Given the description of an element on the screen output the (x, y) to click on. 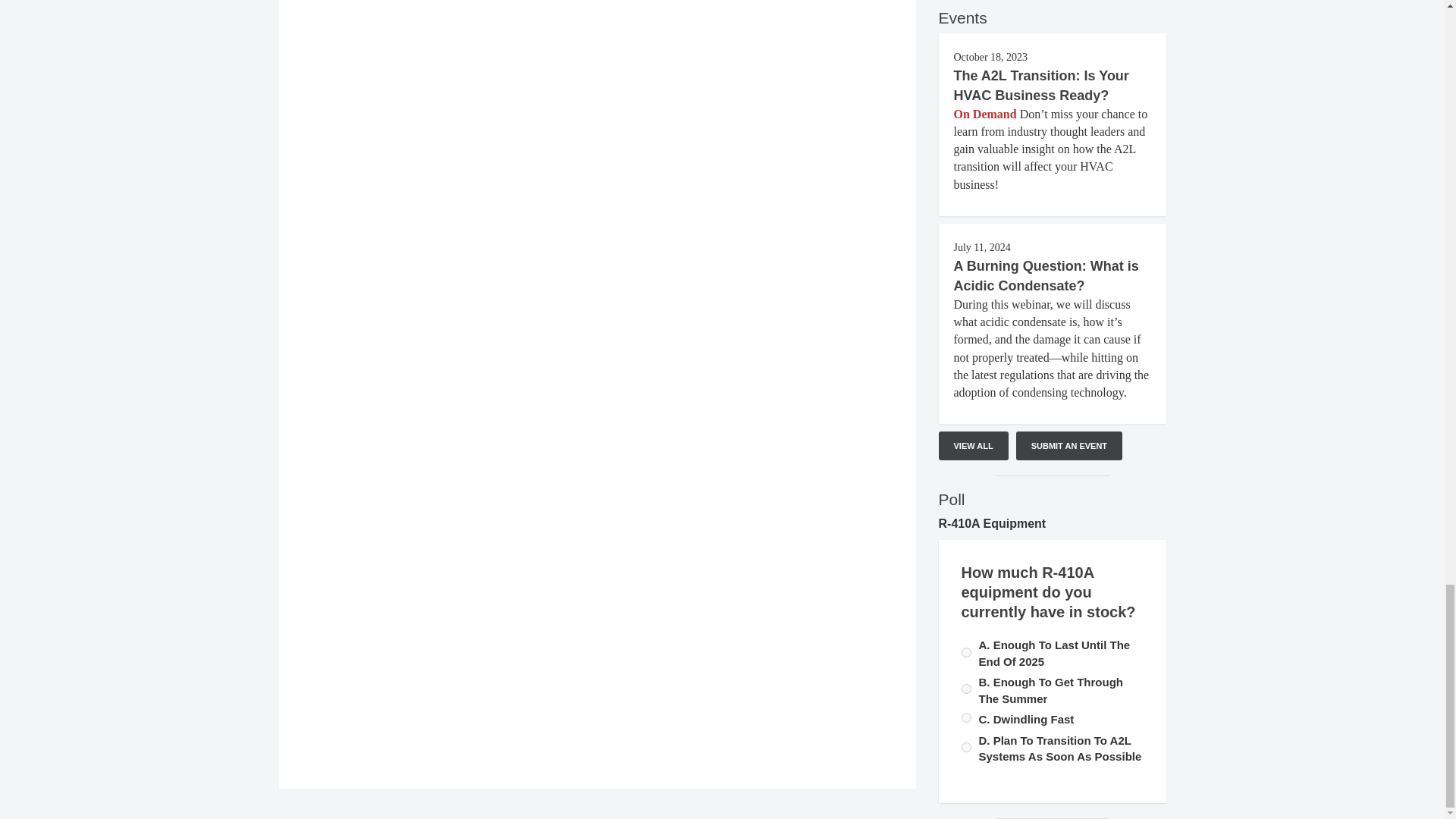
597 (965, 652)
599 (965, 747)
596 (965, 688)
A Burning Question: What is Acidic Condensate? (1045, 275)
598 (965, 717)
The A2L Transition: Is Your HVAC Business Ready? (1041, 85)
